Given the description of an element on the screen output the (x, y) to click on. 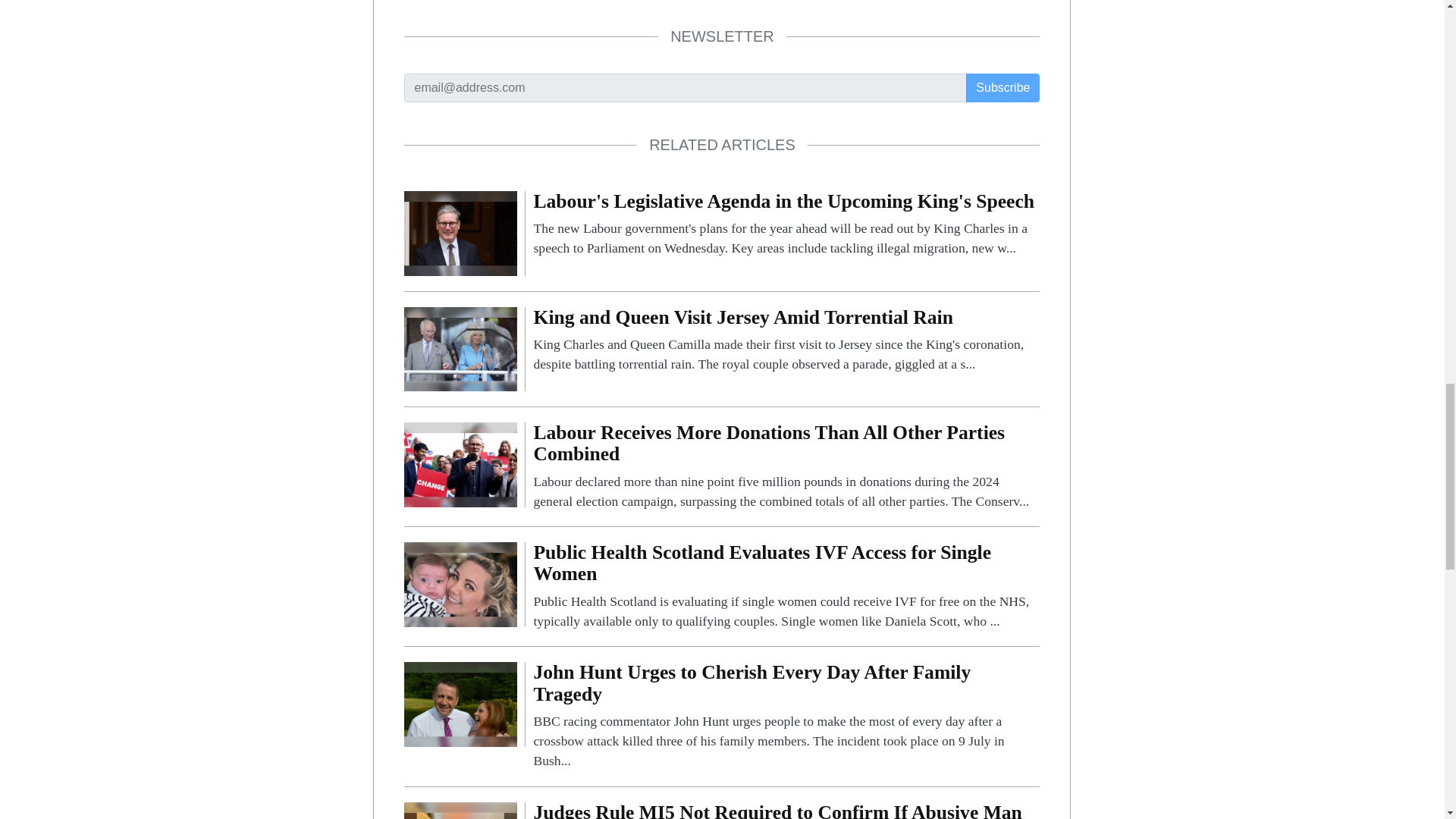
King and Queen Visit Jersey Amid Torrential Rain (460, 348)
Labour's Legislative Agenda in the Upcoming King's Speech (785, 224)
John Hunt Urges to Cherish Every Day After Family Tragedy (460, 703)
John Hunt Urges to Cherish Every Day After Family Tragedy (785, 715)
Subscribe (1002, 87)
King and Queen Visit Jersey Amid Torrential Rain (785, 340)
Labour's Legislative Agenda in the Upcoming King's Speech (460, 232)
Public Health Scotland Evaluates IVF Access for Single Women (460, 583)
